Given the description of an element on the screen output the (x, y) to click on. 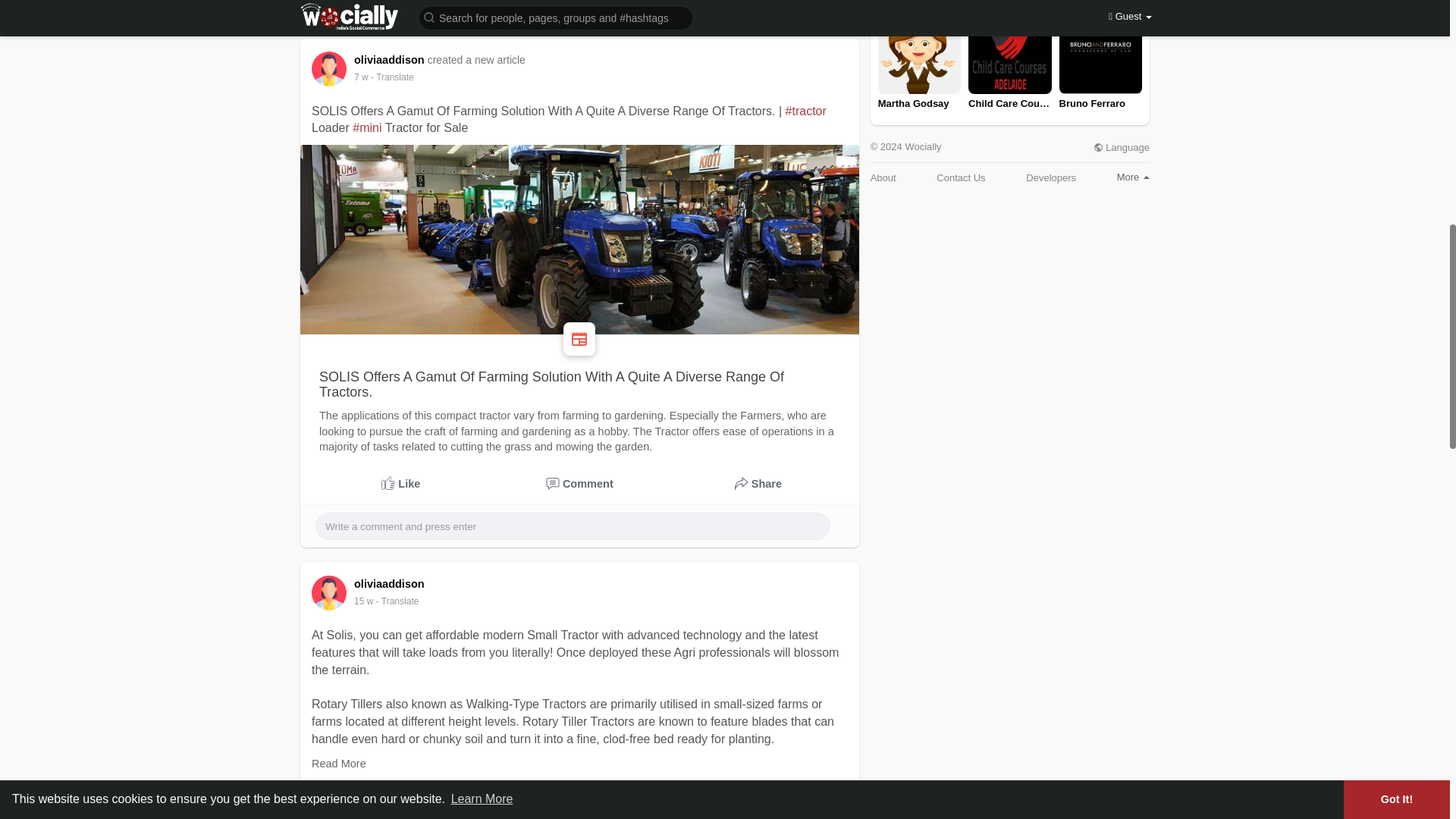
Translate (397, 601)
Comments (579, 483)
15 w (362, 601)
Translate (392, 77)
oliviaaddison (391, 60)
Share (757, 789)
7 w (360, 77)
Share (757, 483)
15 w (362, 601)
Comments (579, 789)
oliviaaddison (391, 583)
7 w (360, 77)
Read More (338, 763)
